Given the description of an element on the screen output the (x, y) to click on. 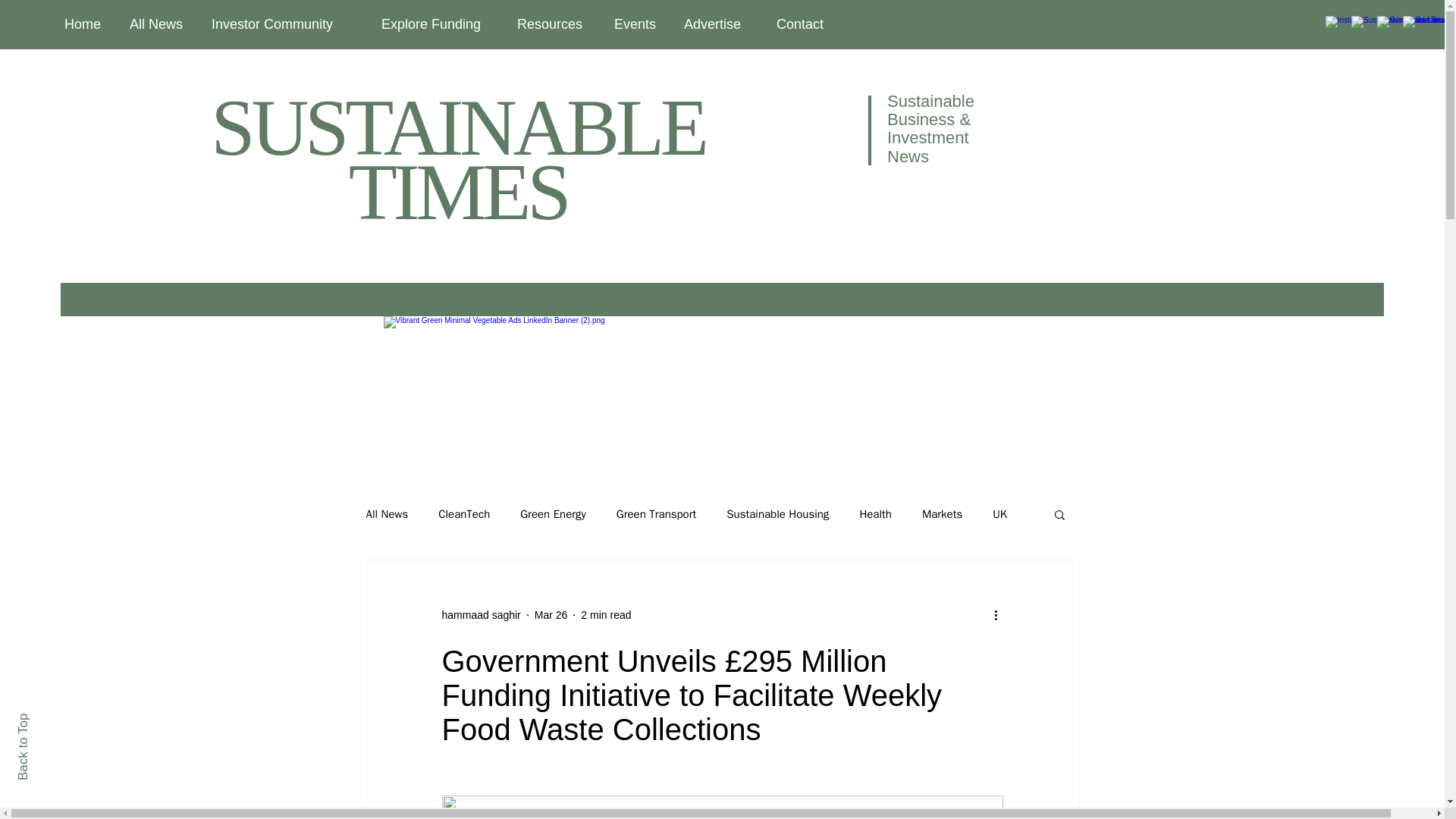
All News (386, 513)
Home (84, 24)
Contact (806, 24)
Resources (553, 24)
2 min read (605, 613)
Mar 26 (550, 613)
Green Energy (552, 513)
Explore Funding (437, 24)
SUSTAINABLE TIMES (457, 159)
Markets (941, 513)
hammaad saghir (480, 614)
Investor Community (284, 24)
Sustainable Housing (777, 513)
Advertise (718, 24)
Events (637, 24)
